Given the description of an element on the screen output the (x, y) to click on. 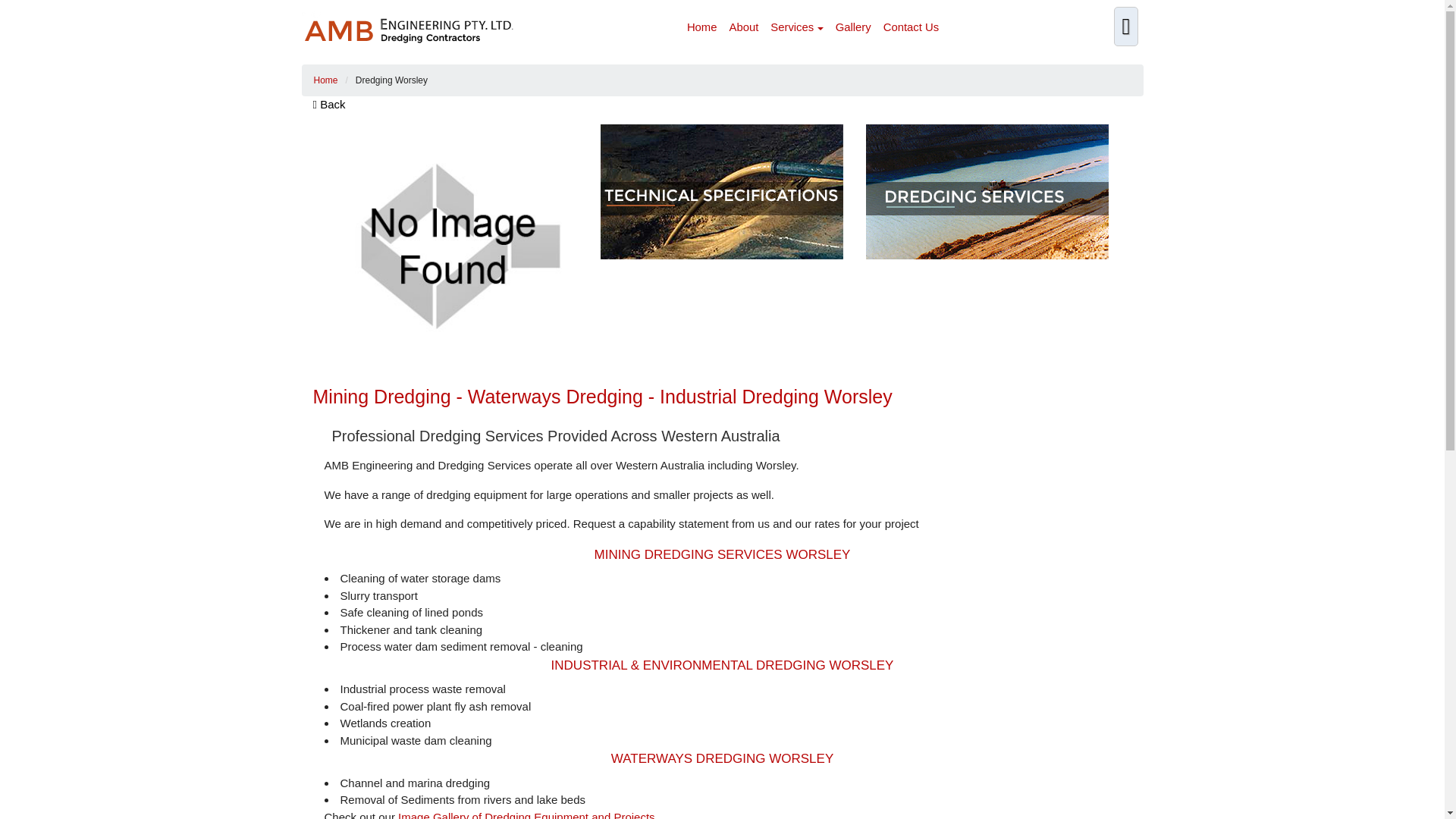
Image Gallery of Dredging Equipment and Projects (526, 814)
Homepage (334, 79)
Home (334, 79)
Services (796, 27)
Gallery (853, 27)
About (744, 27)
 Back (329, 104)
Contact Us (910, 27)
Home (702, 27)
